Given the description of an element on the screen output the (x, y) to click on. 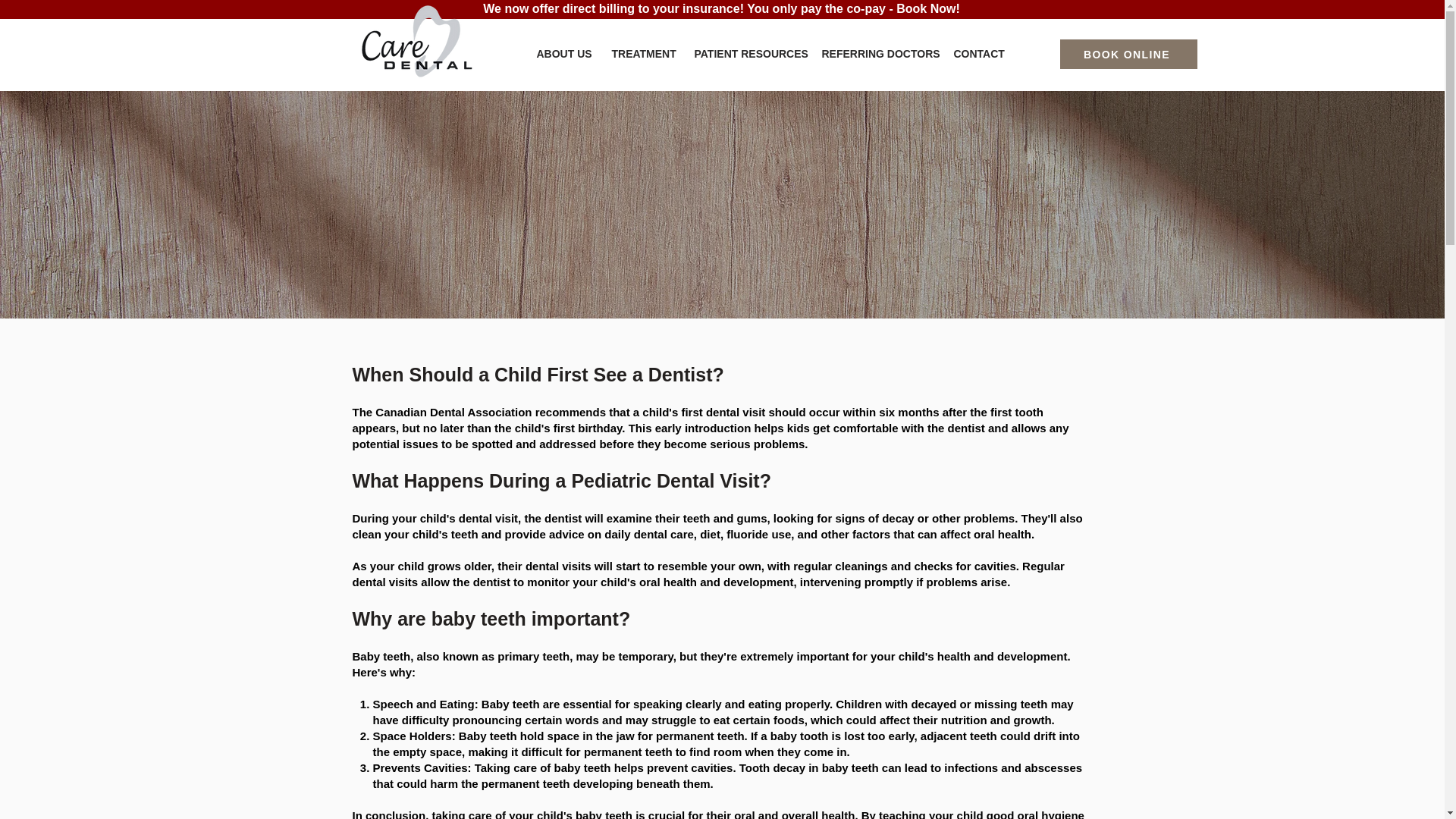
Parkland Dental (415, 44)
CONTACT (977, 54)
TREATMENT (640, 54)
BOOK ONLINE (1127, 53)
